Given the description of an element on the screen output the (x, y) to click on. 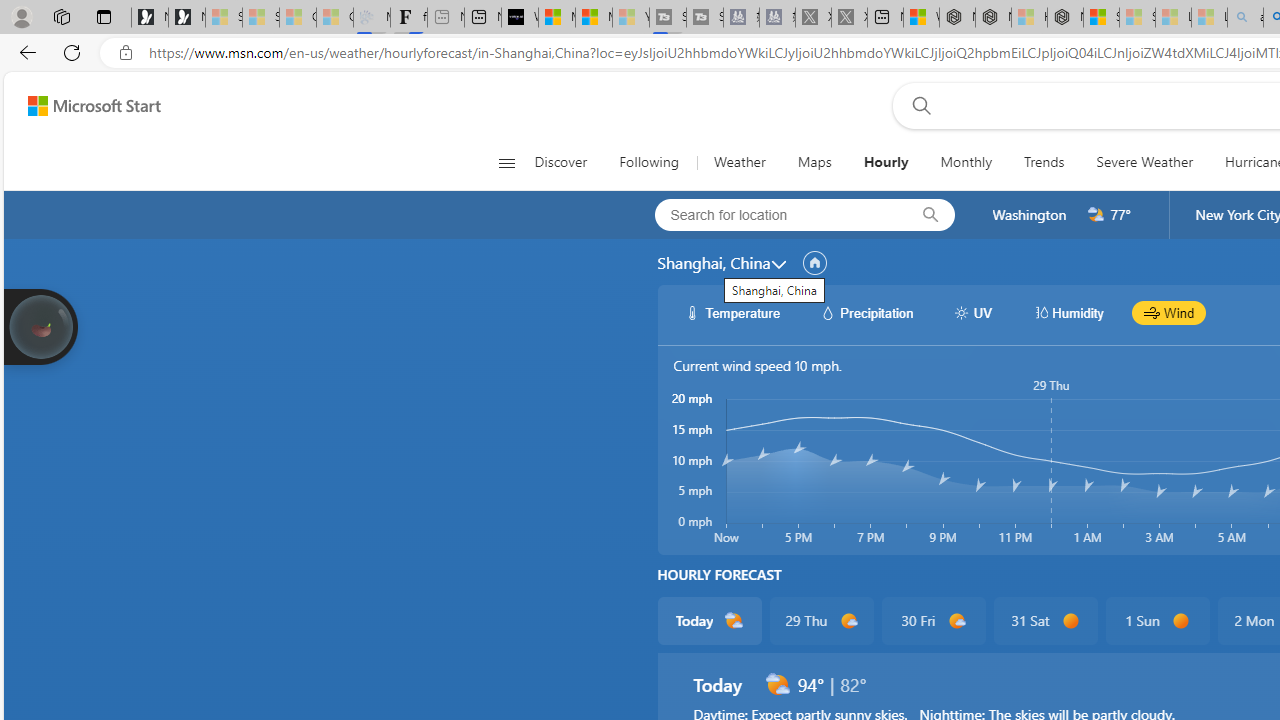
hourlyChart/precipitationWhite (828, 312)
Shanghai, China (713, 263)
locationName/setHomeLocation (814, 263)
Join us in planting real trees to help our planet! (40, 325)
d0000 (1180, 621)
hourlyChart/temperatureWhite Temperature (733, 312)
Maps (814, 162)
Newsletter Sign Up (186, 17)
Today d2000 (708, 620)
Join us in planting real trees to help our planet! (40, 327)
hourlyChart/uvWhite UV (972, 312)
31 Sat d0000 (1045, 620)
